Given the description of an element on the screen output the (x, y) to click on. 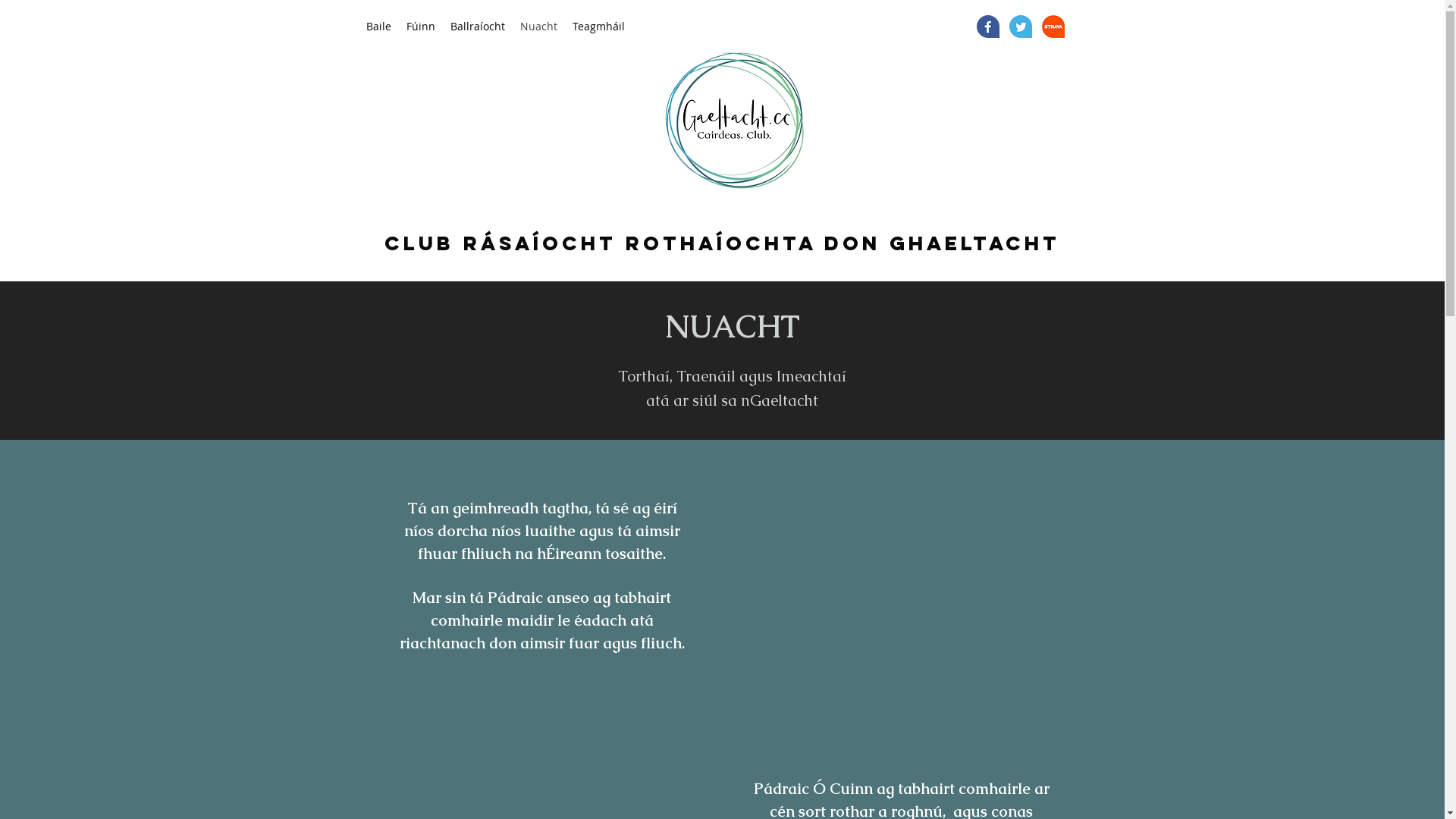
Nuacht Element type: text (538, 26)
Baile Element type: text (377, 26)
